Given the description of an element on the screen output the (x, y) to click on. 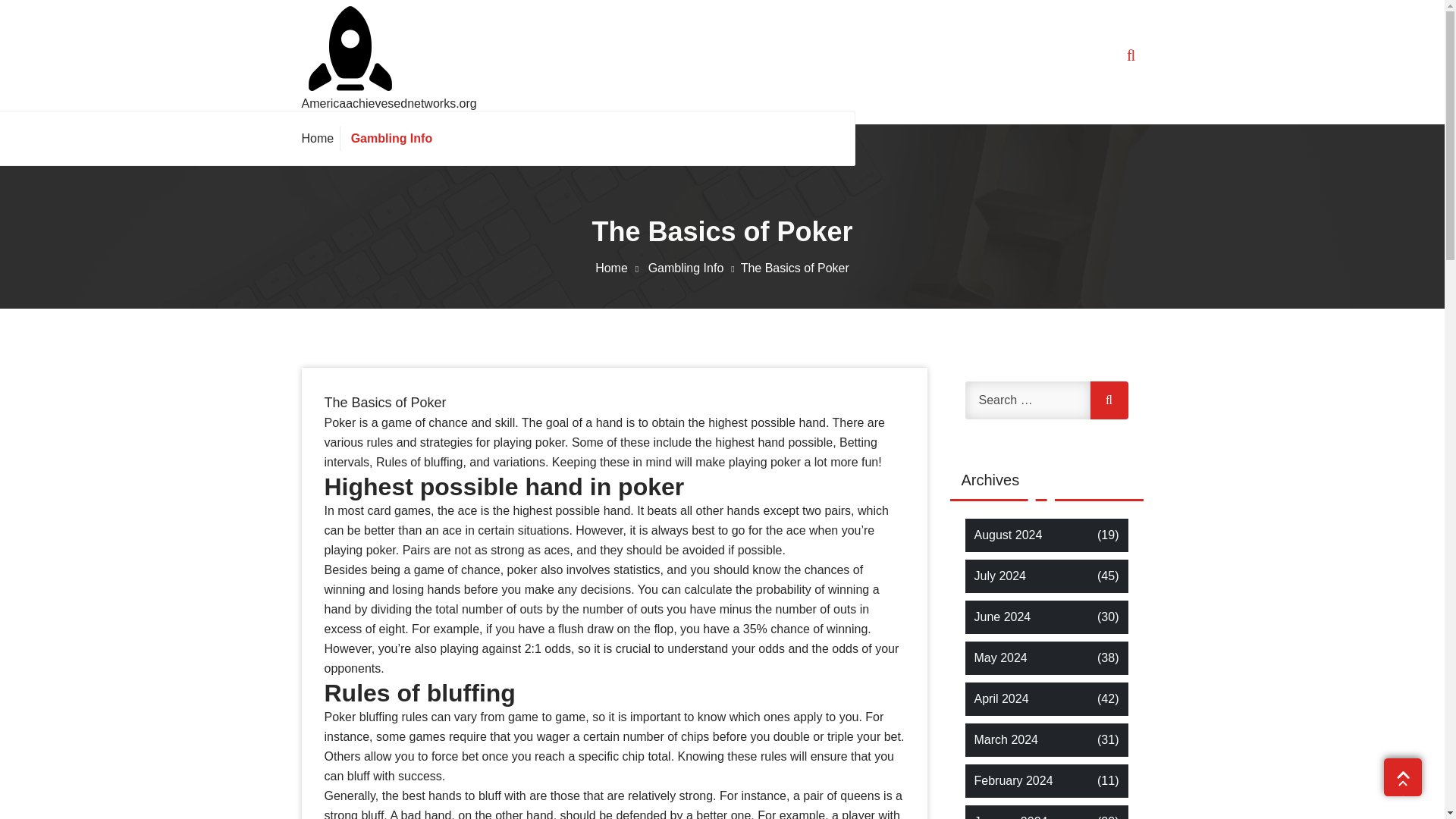
August 2024 (1008, 535)
Gambling Info (694, 267)
January 2024 (1010, 816)
June 2024 (1002, 617)
May 2024 (1000, 658)
July 2024 (1000, 576)
Home (320, 138)
Home (320, 138)
Home (620, 267)
April 2024 (1000, 699)
